Given the description of an element on the screen output the (x, y) to click on. 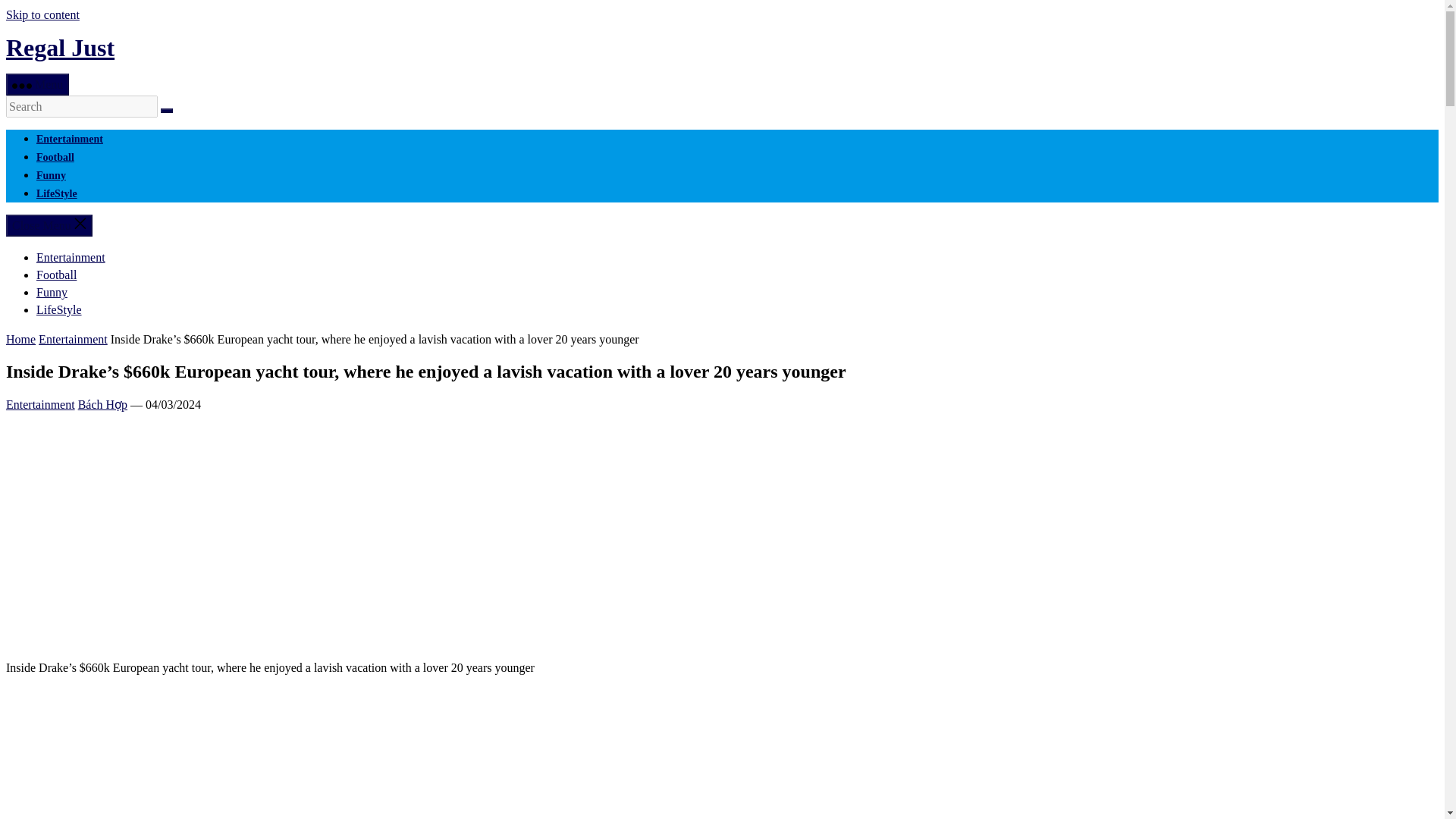
Entertainment (73, 338)
Football (56, 274)
Football (55, 156)
Regal Just (60, 47)
Entertainment (70, 256)
LifeStyle (56, 193)
Home (19, 338)
Funny (50, 174)
Entertainment (40, 404)
Funny (51, 291)
